Given the description of an element on the screen output the (x, y) to click on. 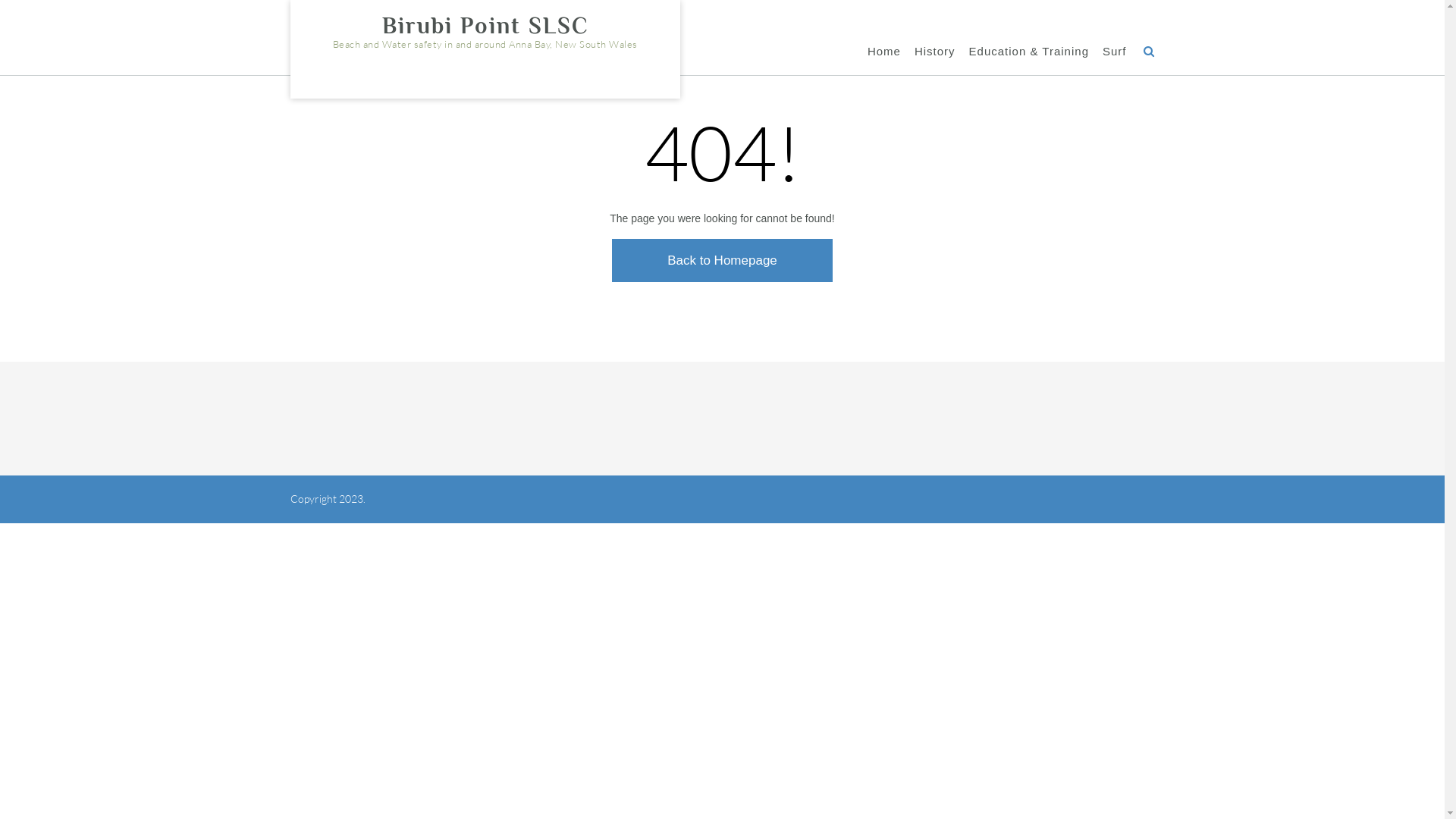
Back to Homepage Element type: text (721, 260)
Home Element type: text (883, 51)
Education & Training Element type: text (1028, 51)
Birubi Point SLSC Element type: text (484, 25)
Surf Element type: text (1114, 51)
History Element type: text (934, 51)
